Given the description of an element on the screen output the (x, y) to click on. 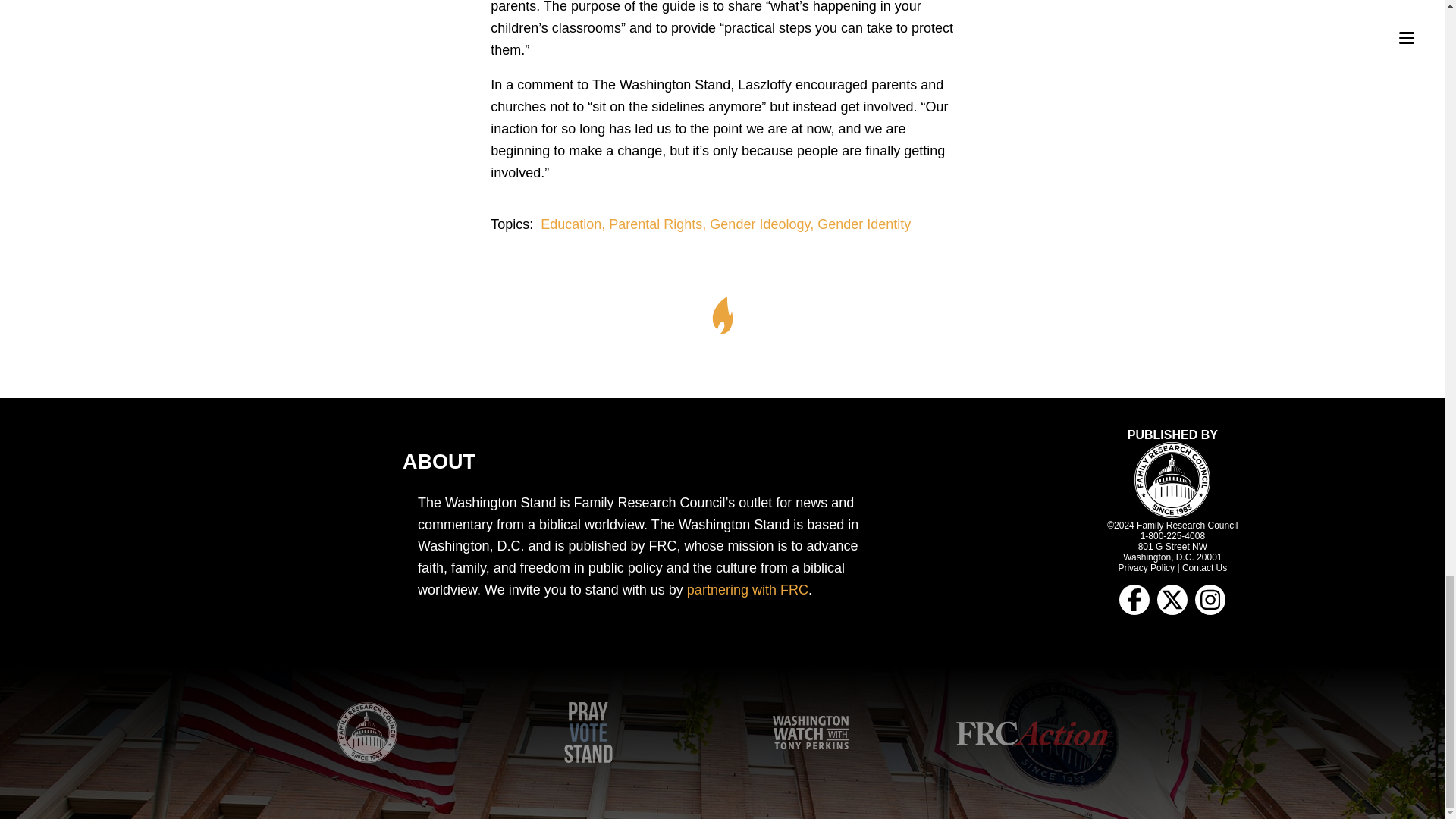
Parental Rights, (659, 224)
Privacy Policy (1146, 567)
Education, (574, 224)
Gender Identity (863, 224)
Contact Us (1204, 567)
Gender Ideology, (763, 224)
partnering with FRC (747, 589)
